Given the description of an element on the screen output the (x, y) to click on. 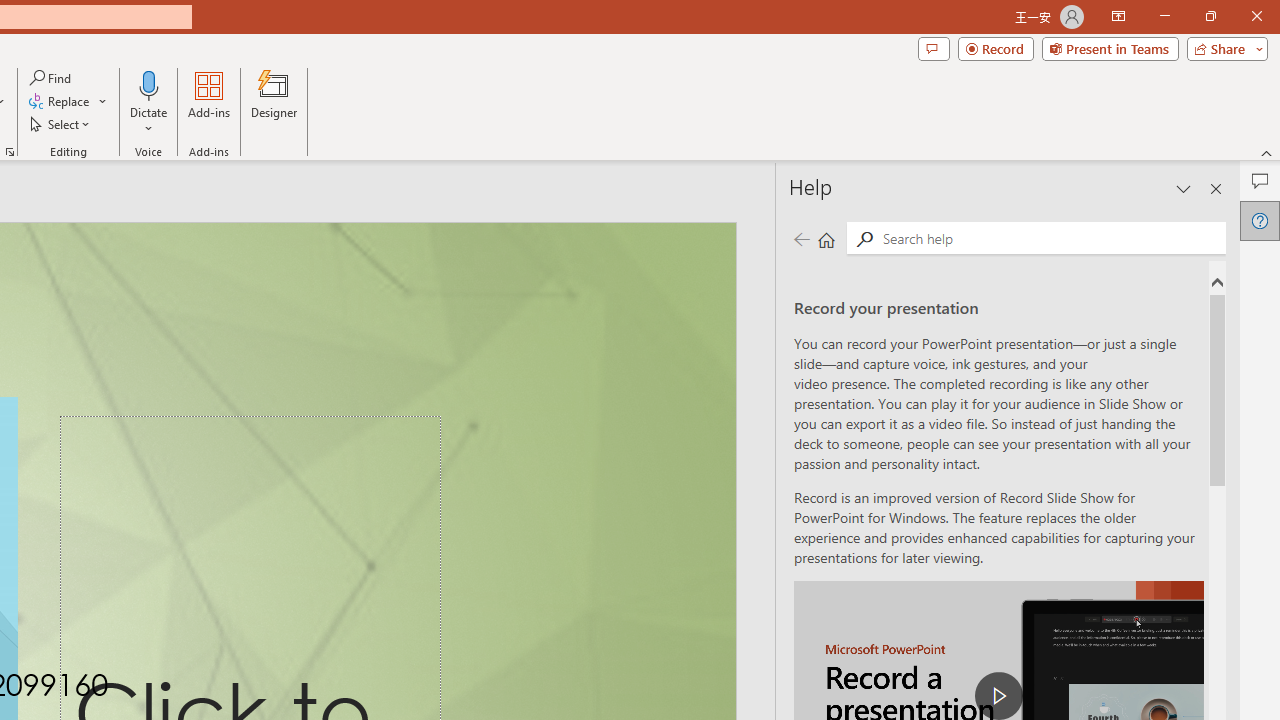
play Record a Presentation (998, 695)
